Given the description of an element on the screen output the (x, y) to click on. 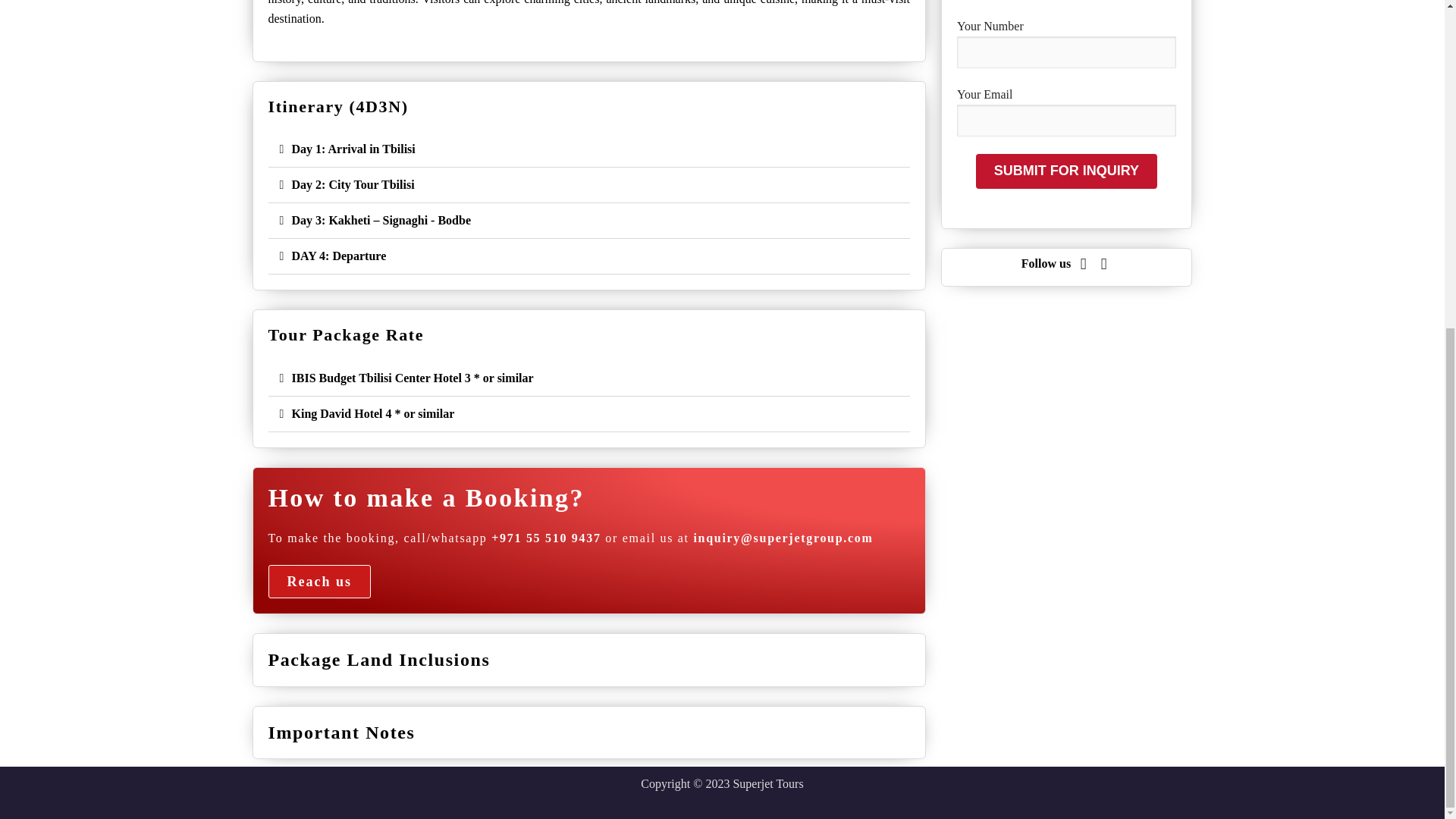
Day 2: City Tour Tbilisi (352, 184)
SUBMIT FOR INQUIRY (1065, 171)
Day 1: Arrival in Tbilisi (352, 148)
DAY 4: Departure (338, 255)
SUBMIT FOR INQUIRY (1065, 171)
Reach us (319, 581)
